Given the description of an element on the screen output the (x, y) to click on. 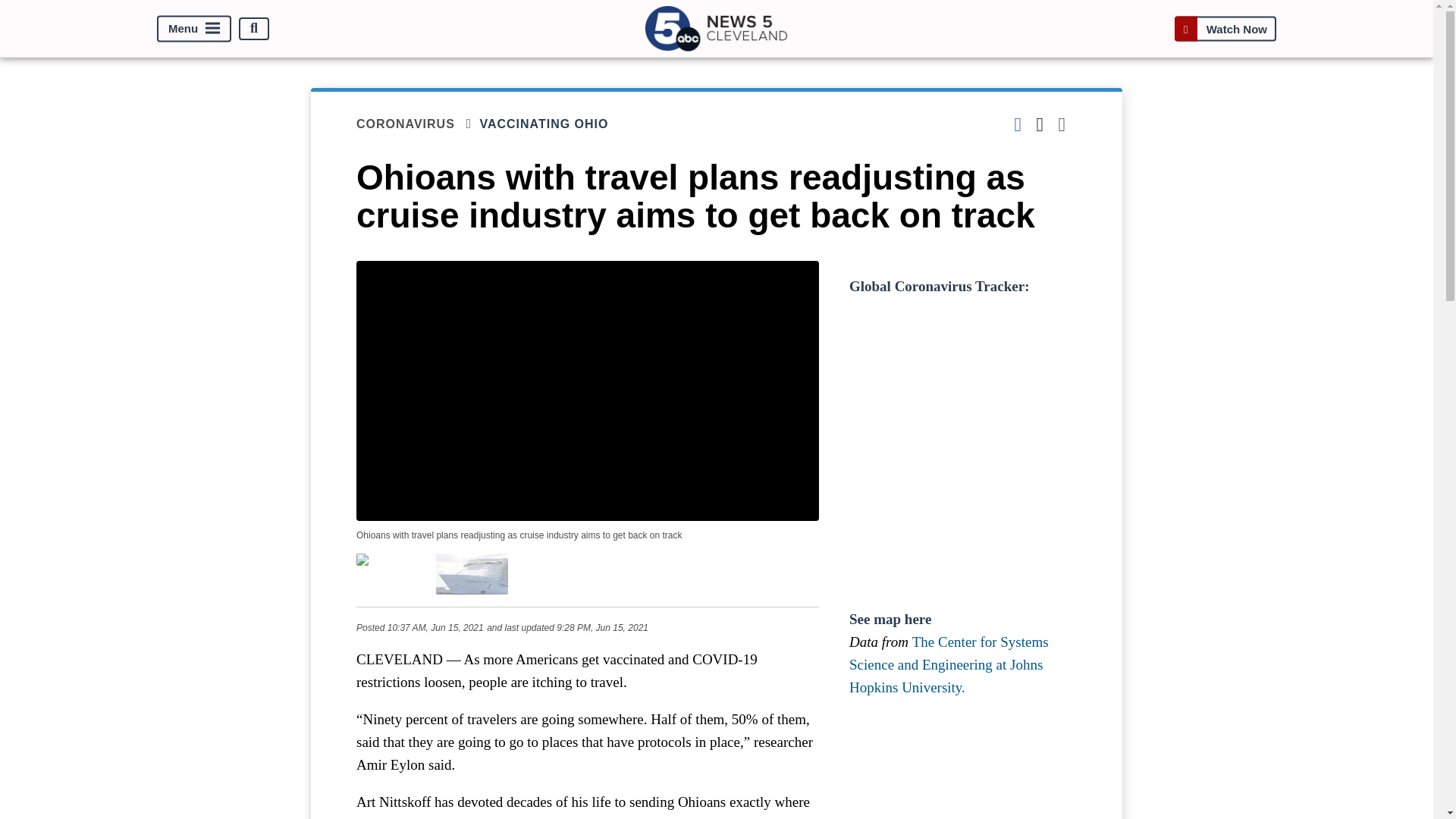
Menu (194, 28)
Watch Now (1224, 28)
